Given the description of an element on the screen output the (x, y) to click on. 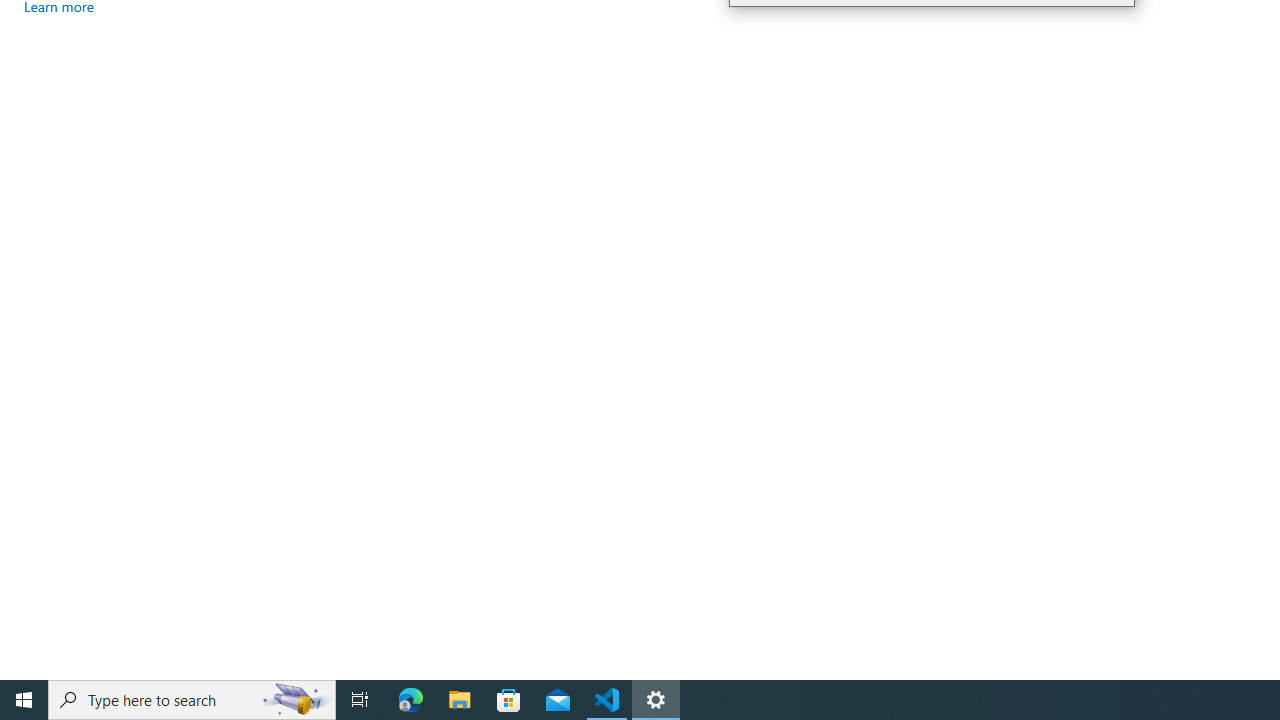
Microsoft Store (509, 699)
Task View (359, 699)
Visual Studio Code - 1 running window (607, 699)
Start (24, 699)
Search highlights icon opens search home window (295, 699)
Microsoft Edge (411, 699)
Type here to search (191, 699)
Settings - 1 running window (656, 699)
File Explorer (460, 699)
